Given the description of an element on the screen output the (x, y) to click on. 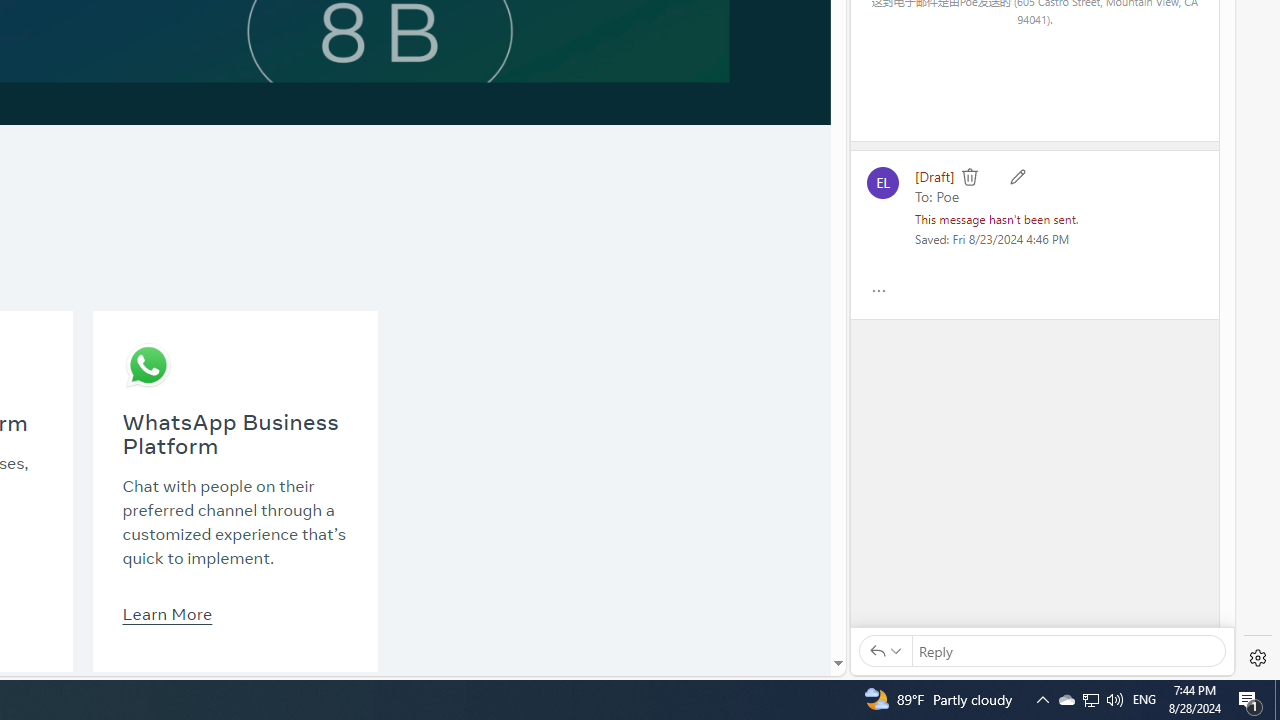
Contact card for Eugene Ledger (882, 182)
Draft saved on Fri 8/23/2024 4:46 PM (992, 237)
Edit (1018, 176)
Delete (969, 176)
Learn More (166, 613)
Show full message (878, 290)
Poe (947, 195)
Reply (1068, 650)
Draft. message expanded. double tap to collapse (934, 175)
Reply Options, Double tap to change recipients. (885, 650)
Settings (1258, 658)
